Given the description of an element on the screen output the (x, y) to click on. 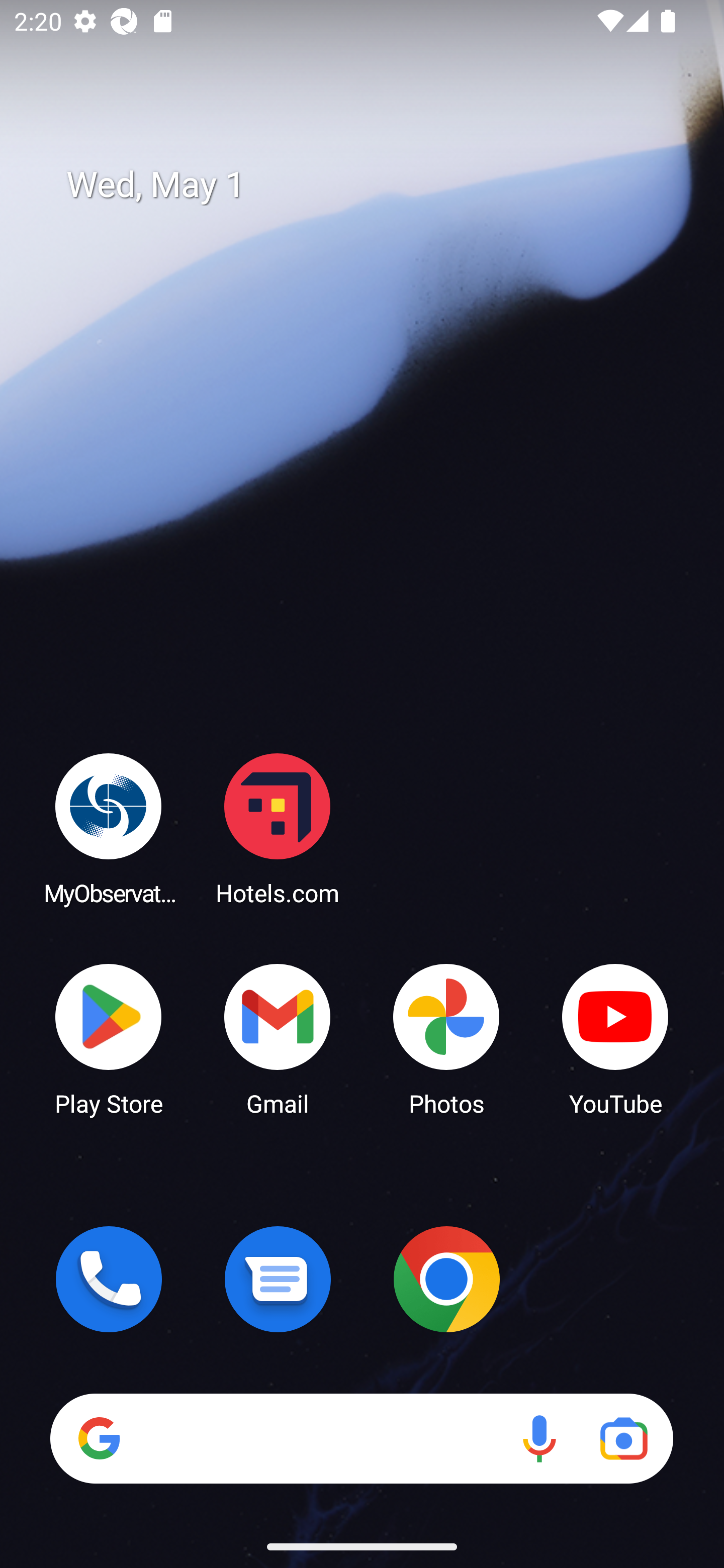
Wed, May 1 (375, 184)
MyObservatory (108, 828)
Hotels.com (277, 828)
Play Store (108, 1038)
Gmail (277, 1038)
Photos (445, 1038)
YouTube (615, 1038)
Phone (108, 1279)
Messages (277, 1279)
Chrome (446, 1279)
Search Voice search Google Lens (361, 1438)
Voice search (539, 1438)
Google Lens (623, 1438)
